Given the description of an element on the screen output the (x, y) to click on. 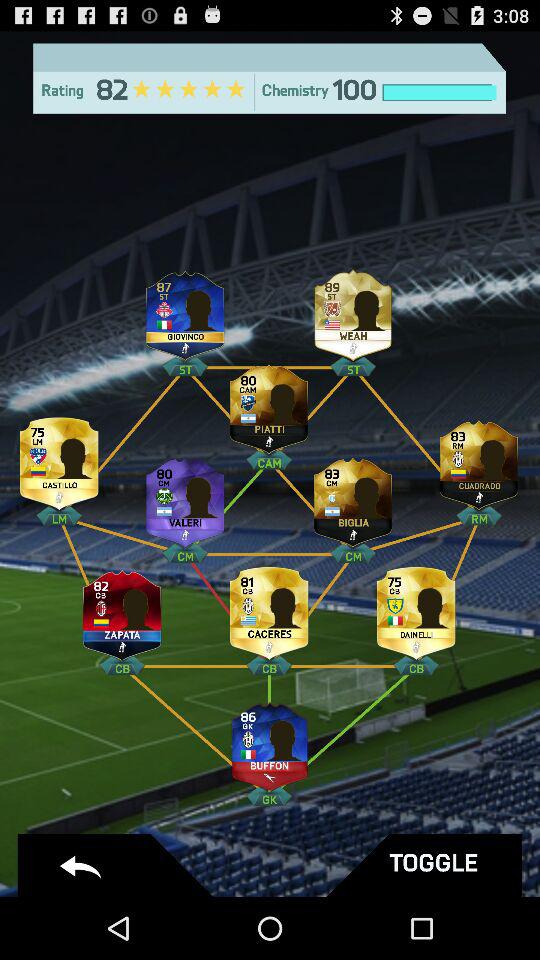
check player ratings (416, 609)
